Given the description of an element on the screen output the (x, y) to click on. 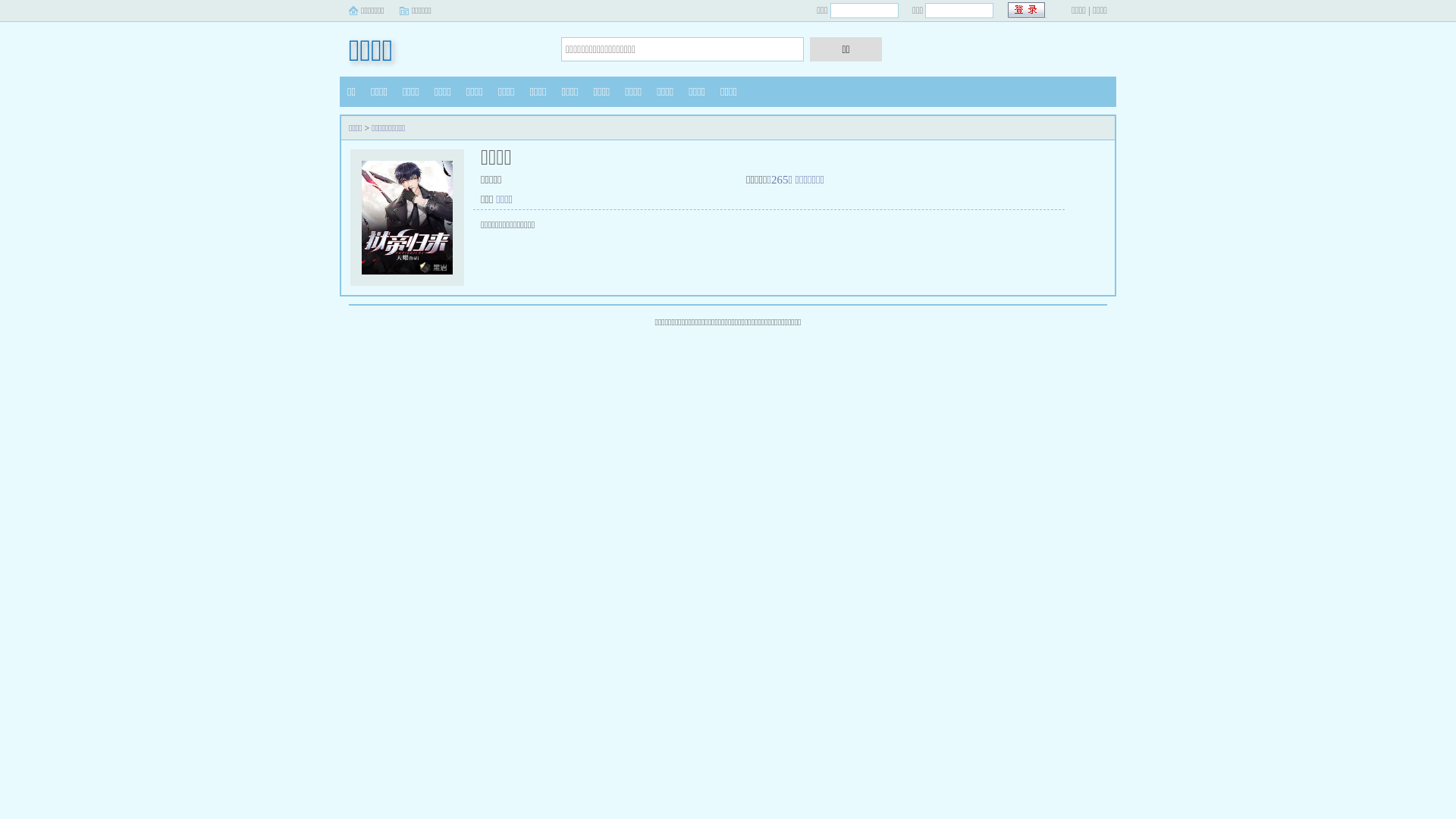
  Element type: text (1026, 10)
